Given the description of an element on the screen output the (x, y) to click on. 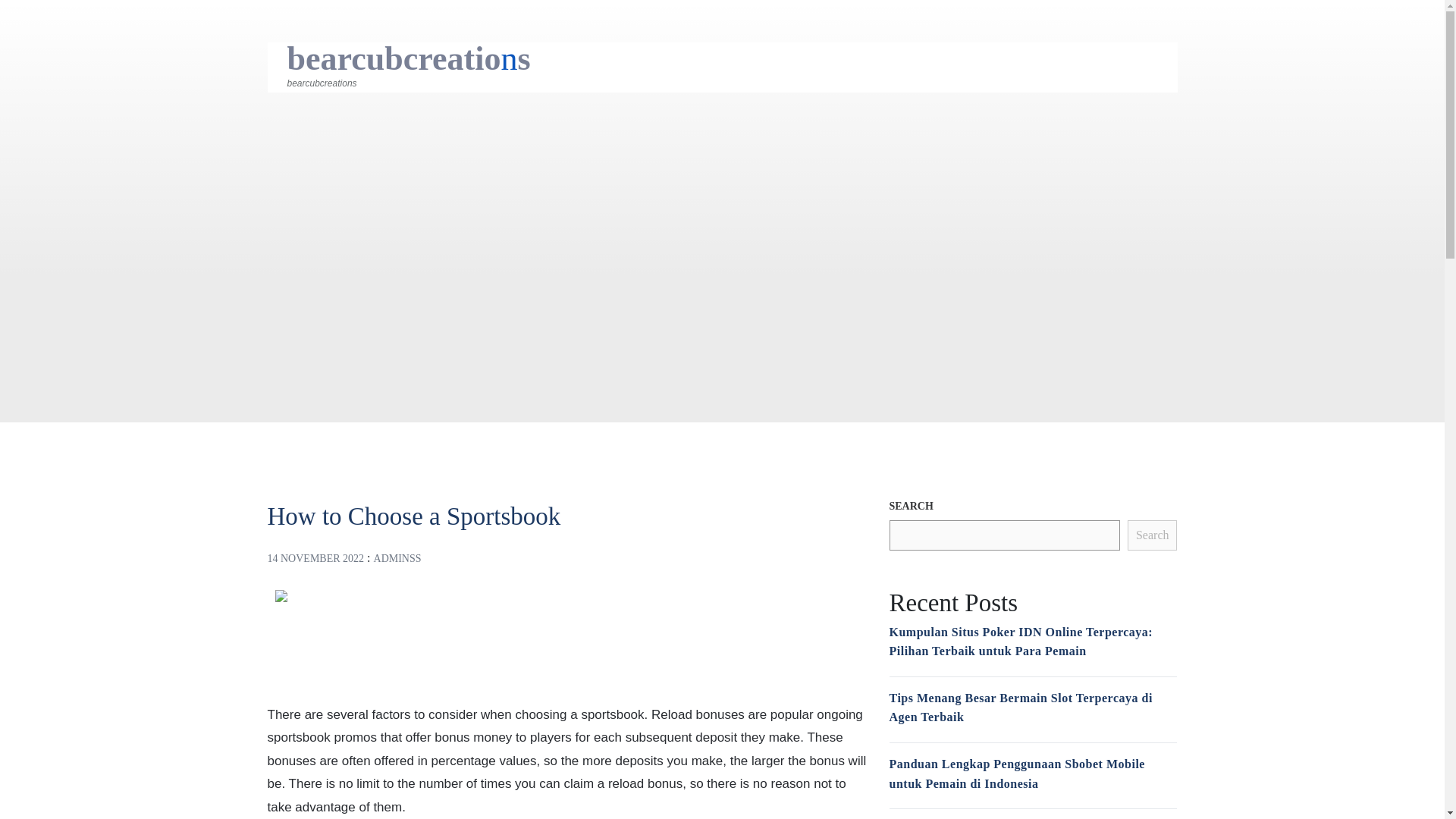
bearcubcreations (407, 58)
ADMINSS (398, 558)
14 NOVEMBER 2022 (315, 558)
Tips Menang Besar Bermain Slot Terpercaya di Agen Terbaik (1019, 707)
Search (1151, 535)
